Given the description of an element on the screen output the (x, y) to click on. 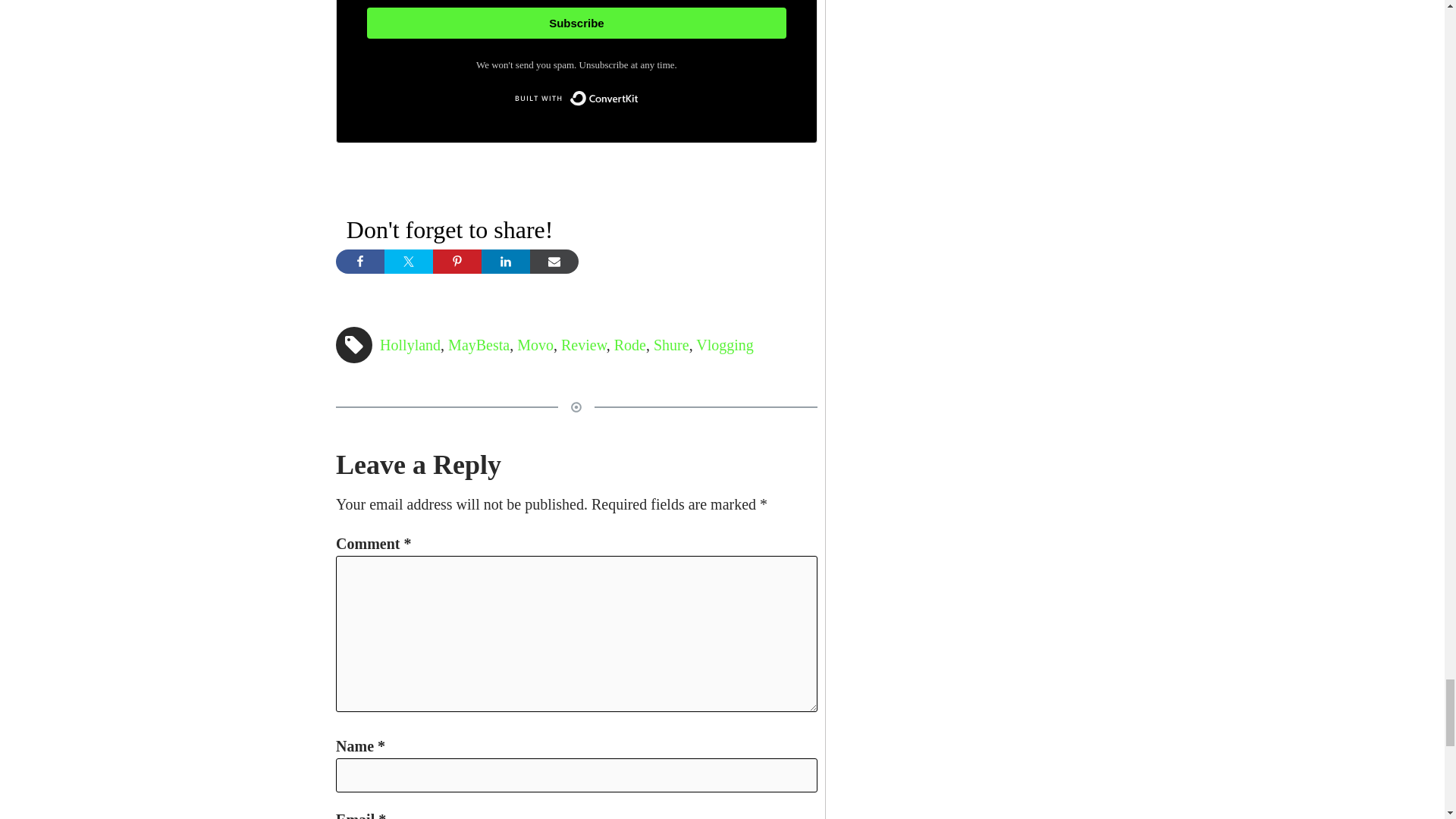
Share on Facebook (360, 261)
Share on Twitter (408, 261)
Share on LinkedIn (505, 261)
Share via Email (553, 261)
Share on Pinterest (456, 261)
